Given the description of an element on the screen output the (x, y) to click on. 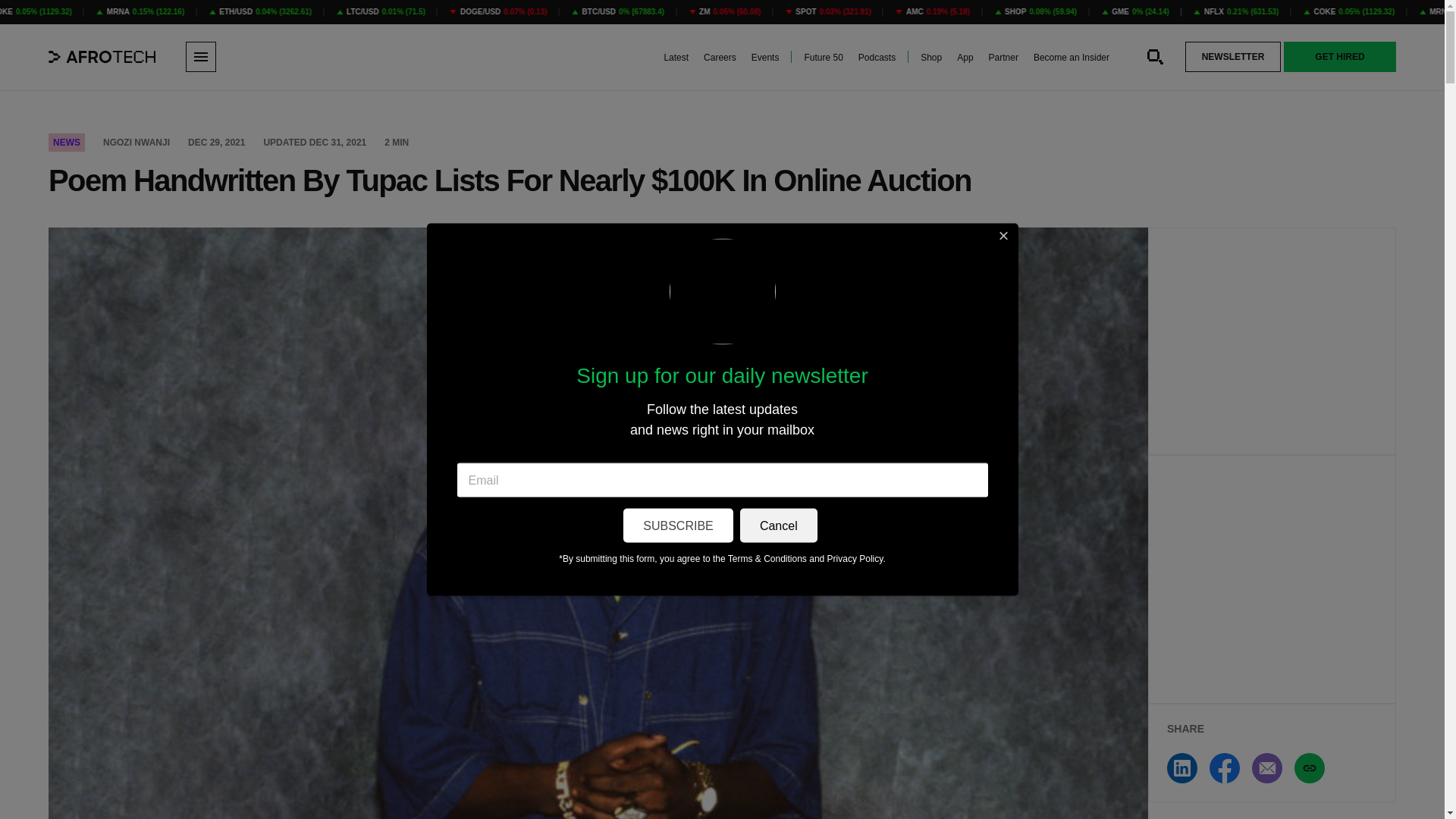
Become an Insider (1071, 57)
NEWS (66, 142)
3rd party ad content (1272, 579)
Latest (675, 57)
Events (764, 57)
Future 50 (823, 57)
Careers (719, 57)
App (964, 57)
NGOZI NWANJI (136, 142)
NEWSLETTER (1233, 56)
Podcasts (877, 57)
GET HIRED (1340, 56)
3rd party ad content (1272, 340)
Shop (931, 57)
Partner (1002, 57)
